Given the description of an element on the screen output the (x, y) to click on. 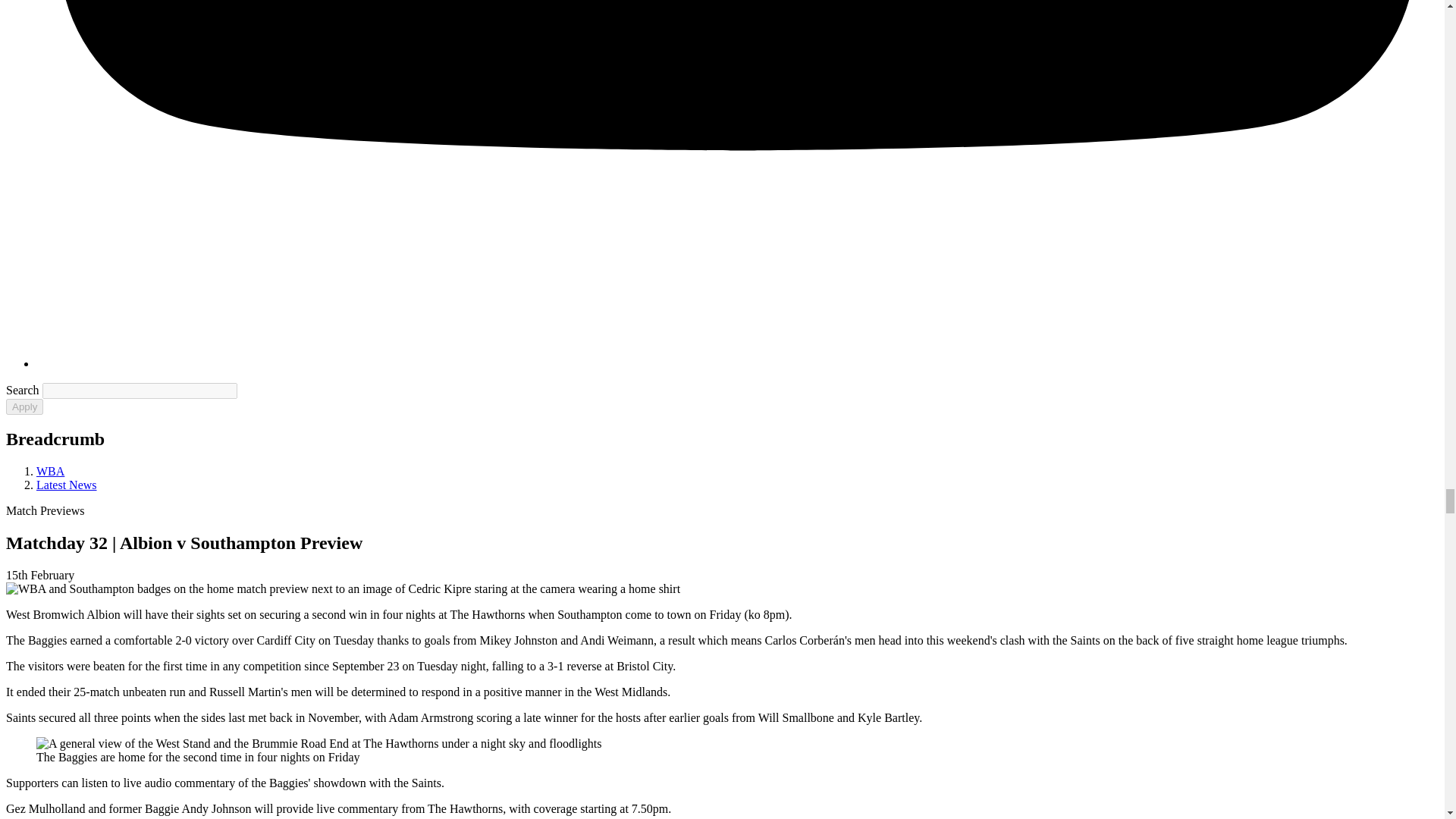
Apply (24, 406)
